Given the description of an element on the screen output the (x, y) to click on. 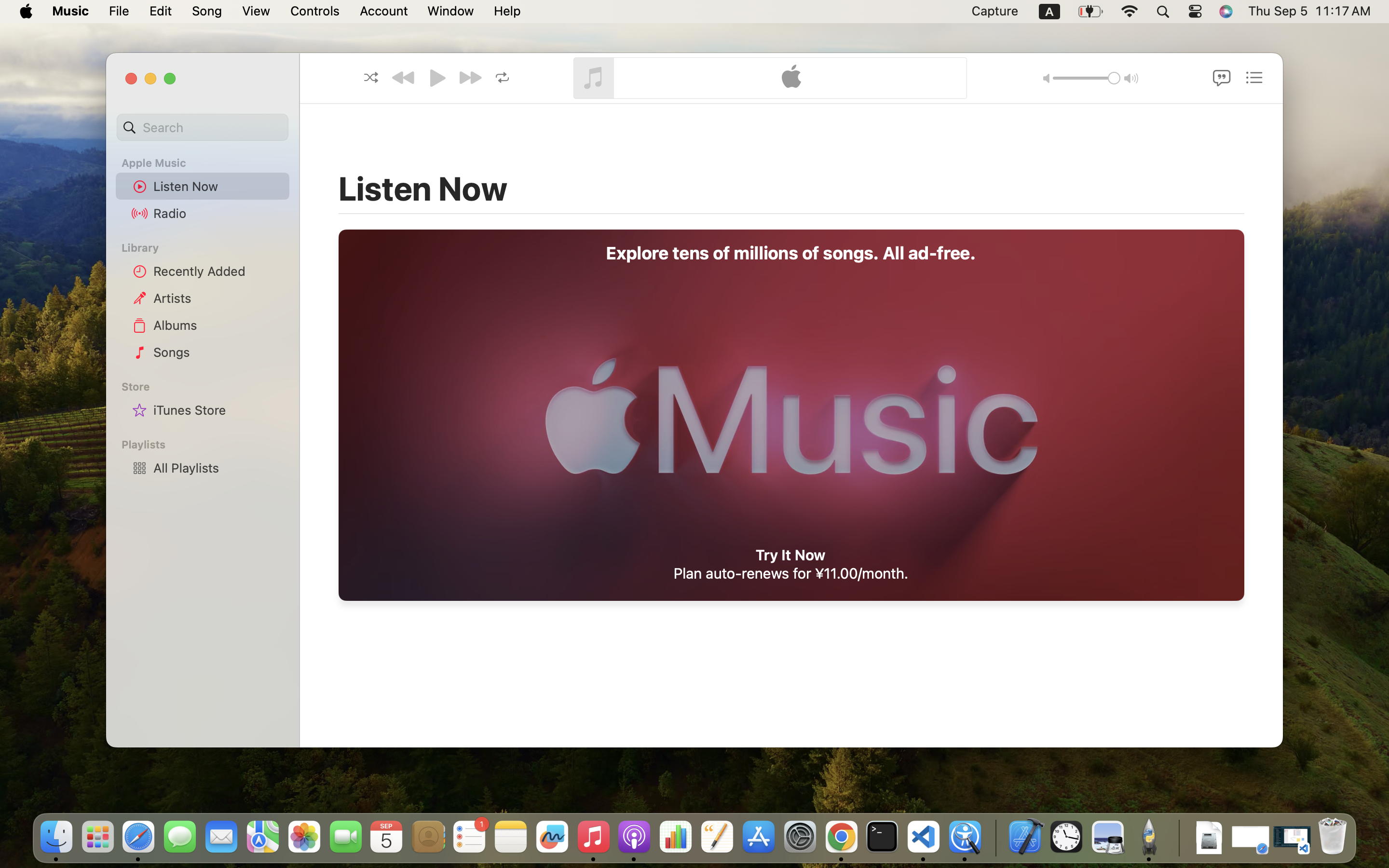
Try It Now Element type: AXStaticText (790, 554)
Songs Element type: AXStaticText (217, 351)
